Given the description of an element on the screen output the (x, y) to click on. 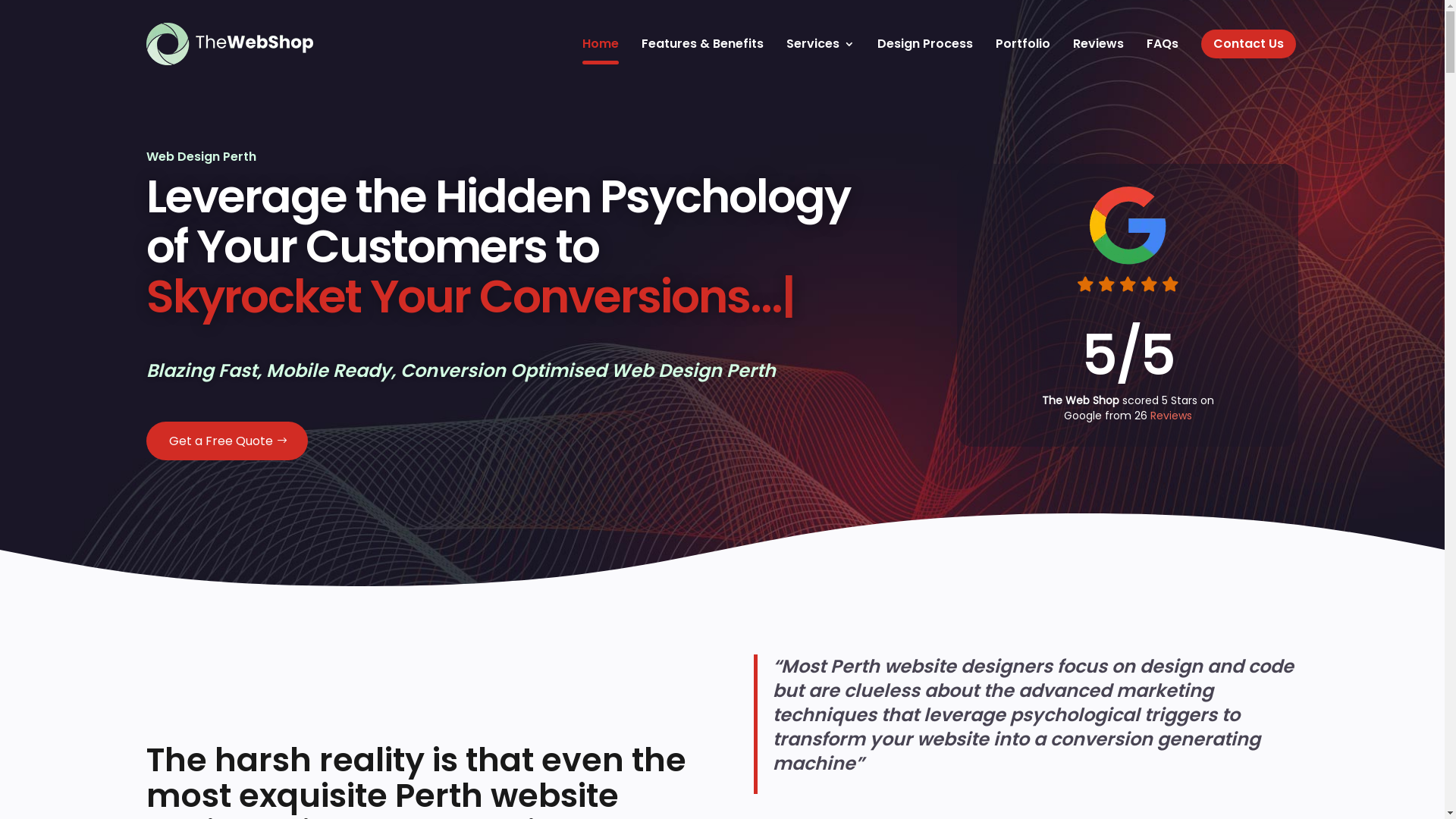
Design Process Element type: text (924, 43)
Get a Free Quote Element type: text (226, 440)
Reviews Element type: text (1097, 43)
Portfolio Element type: text (1021, 43)
Home Element type: text (600, 43)
Contact Us Element type: text (1248, 43)
Features & Benefits Element type: text (702, 43)
FAQs Element type: text (1162, 43)
Reviews Element type: text (1170, 415)
Services Element type: text (819, 43)
